Given the description of an element on the screen output the (x, y) to click on. 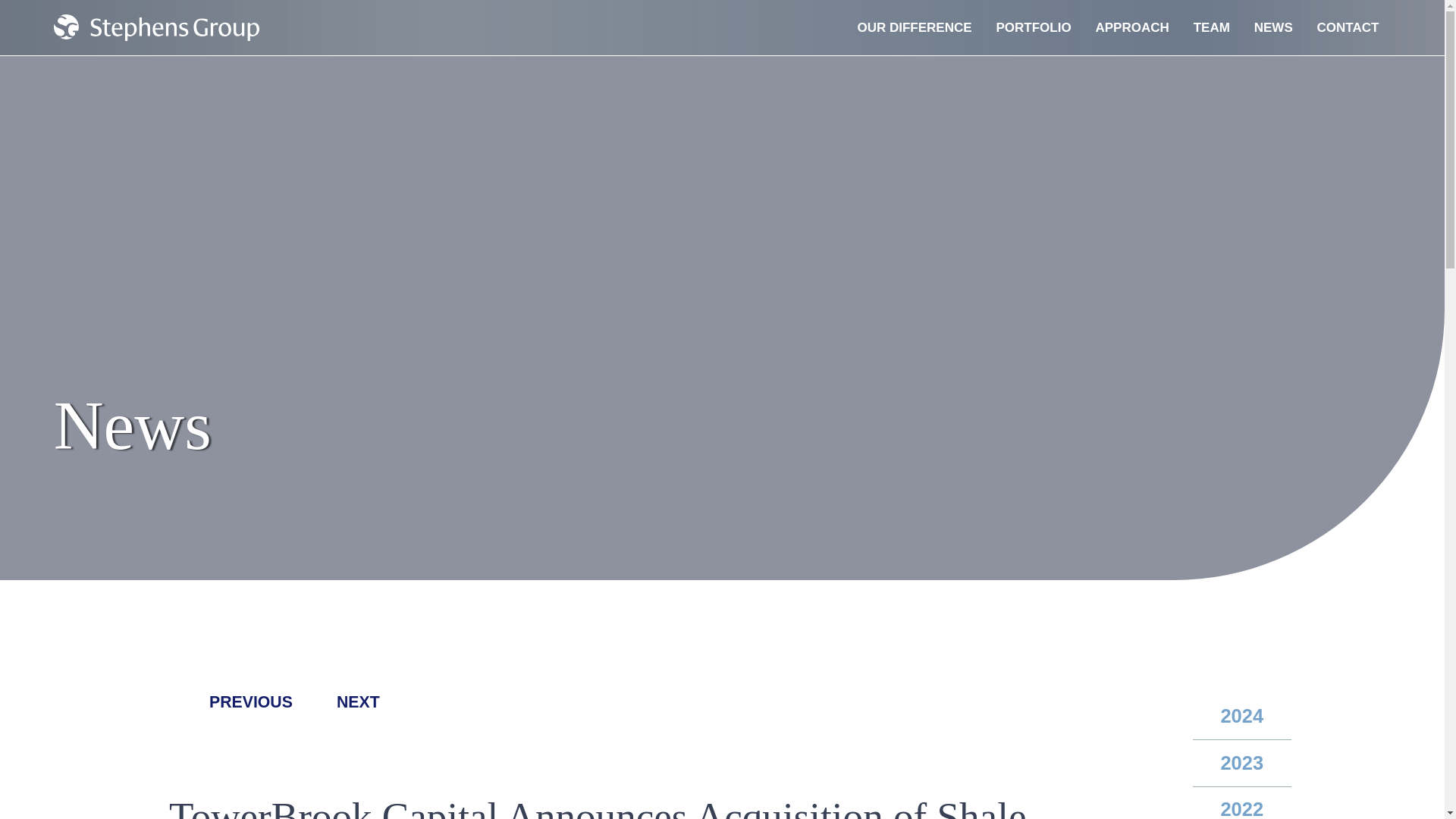
TEAM (1210, 27)
APPROACH (1131, 27)
PORTFOLIO (1033, 27)
OUR DIFFERENCE (914, 27)
PREVIOUS (230, 701)
2022 (1241, 803)
CONTACT (1347, 27)
2023 (1241, 763)
NEXT (378, 701)
Stephens Group (156, 27)
